Given the description of an element on the screen output the (x, y) to click on. 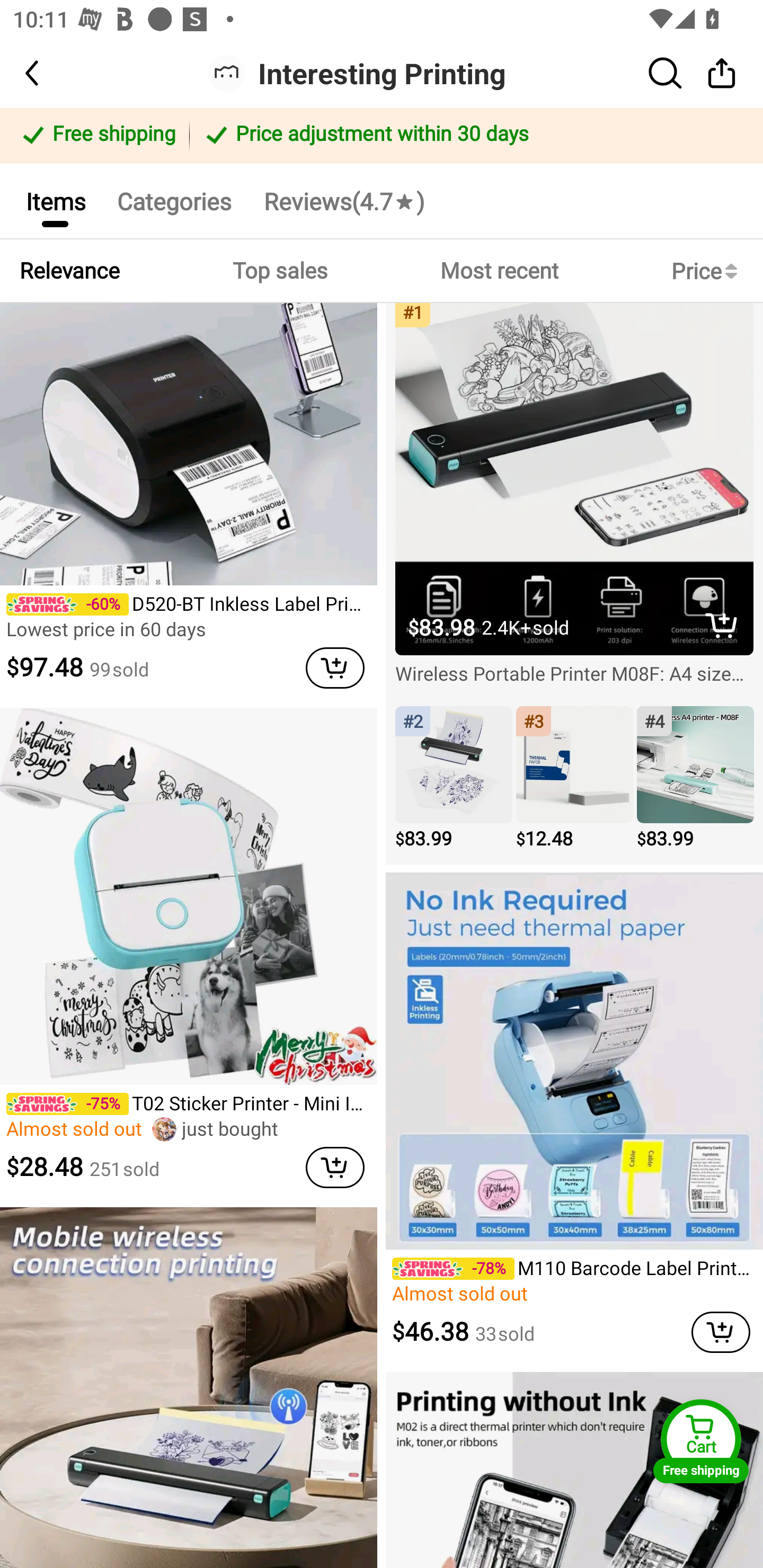
back (47, 72)
share (721, 72)
Free shipping (97, 135)
Price adjustment within 30 days (472, 135)
Items (55, 200)
Categories (174, 200)
Reviews(4.7 ) (343, 200)
Relevance (69, 270)
Top sales (279, 270)
Most recent (498, 270)
Price (707, 270)
delete (721, 624)
cart delete (334, 667)
#2 $83.99 (453, 778)
#3 $12.48 (574, 778)
#4 $83.99 (695, 778)
cart delete (334, 1167)
cart delete (720, 1331)
Cart Free shipping Cart (701, 1440)
